Given the description of an element on the screen output the (x, y) to click on. 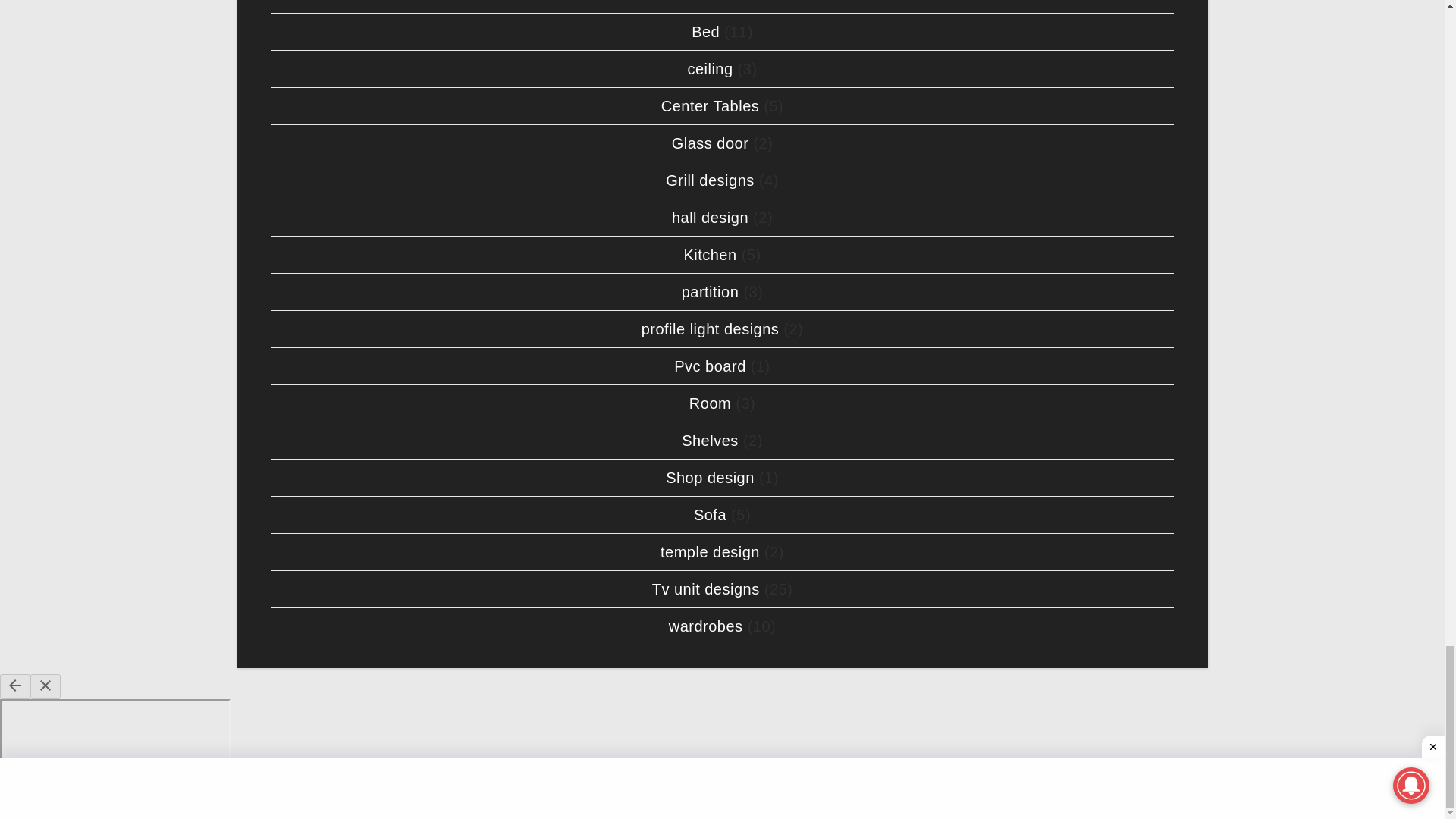
Pvc board (709, 365)
Tv unit designs (706, 588)
Glass door (710, 143)
temple design (710, 551)
ceiling (709, 68)
Center Tables (710, 105)
Bed (705, 31)
profile light designs (710, 329)
Sofa (710, 514)
Shop design (709, 477)
partition (710, 291)
Shelves (709, 440)
Grill designs (709, 180)
Kitchen (709, 254)
hall design (709, 217)
